Given the description of an element on the screen output the (x, y) to click on. 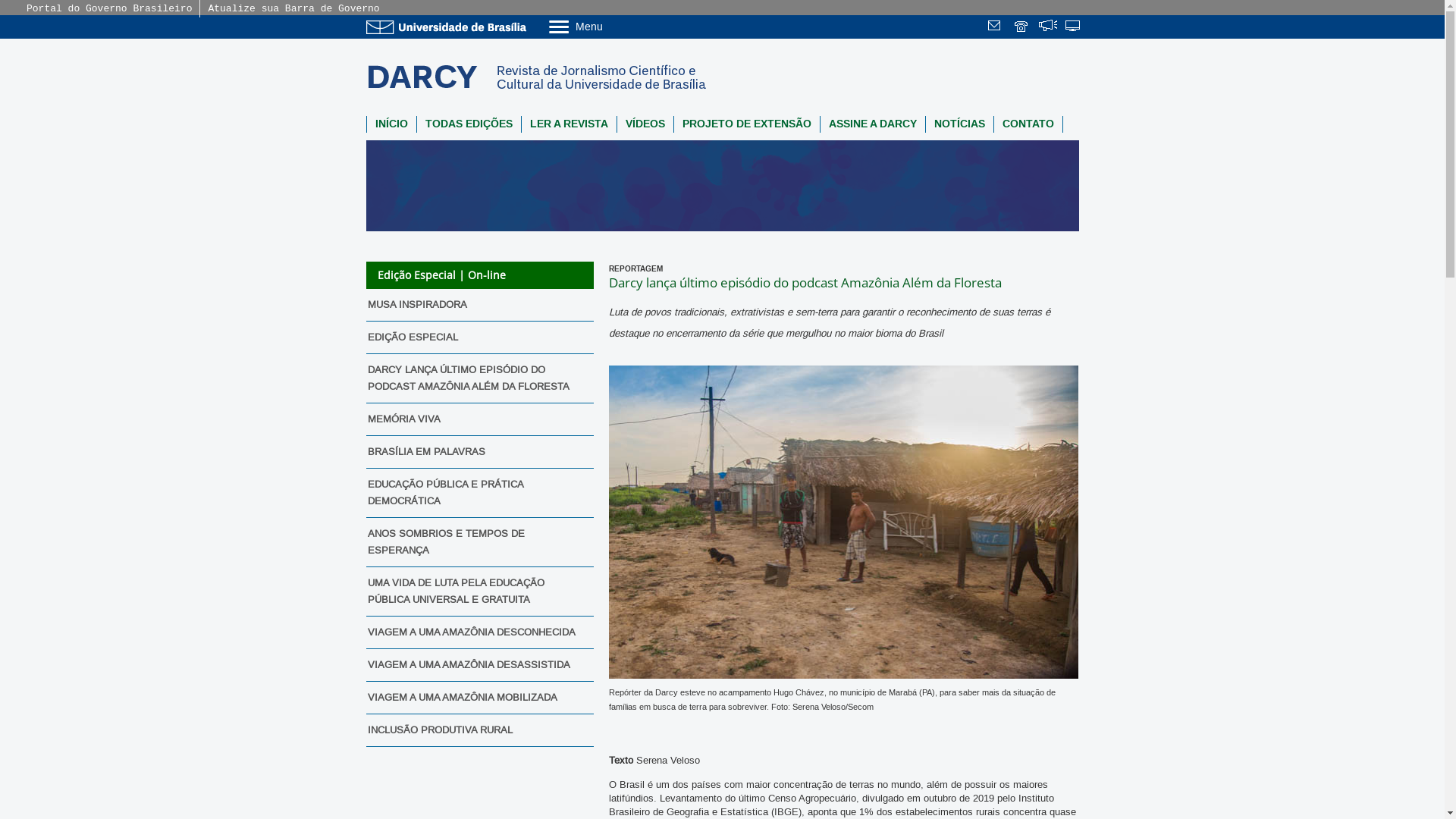
Webmail Element type: hover (996, 27)
Fala.BR Element type: hover (1047, 27)
  Element type: text (1047, 27)
MUSA INSPIRADORA Element type: text (474, 304)
ASSINE A DARCY Element type: text (872, 124)
Telefones da UnB Element type: hover (1022, 27)
LER A REVISTA Element type: text (568, 124)
Menu Element type: text (613, 25)
CONTATO Element type: text (1027, 124)
Atualize sua Barra de Governo Element type: text (293, 8)
Sistemas Element type: hover (1073, 27)
  Element type: text (1073, 27)
Portal do Governo Brasileiro Element type: text (108, 8)
  Element type: text (1022, 27)
Ir para o Portal da UnB Element type: hover (448, 26)
  Element type: text (996, 27)
